Given the description of an element on the screen output the (x, y) to click on. 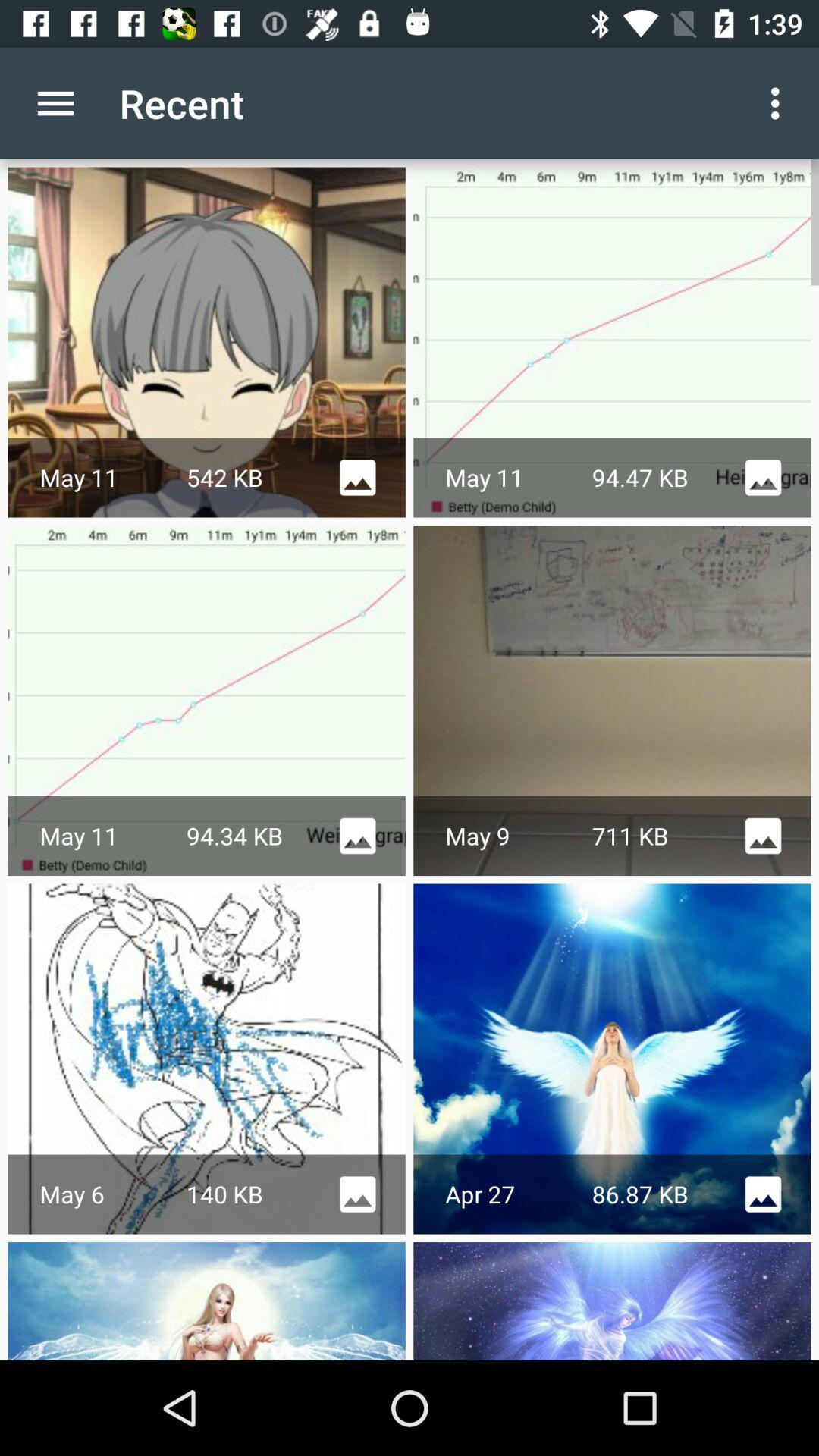
turn on the icon next to recent (55, 103)
